Given the description of an element on the screen output the (x, y) to click on. 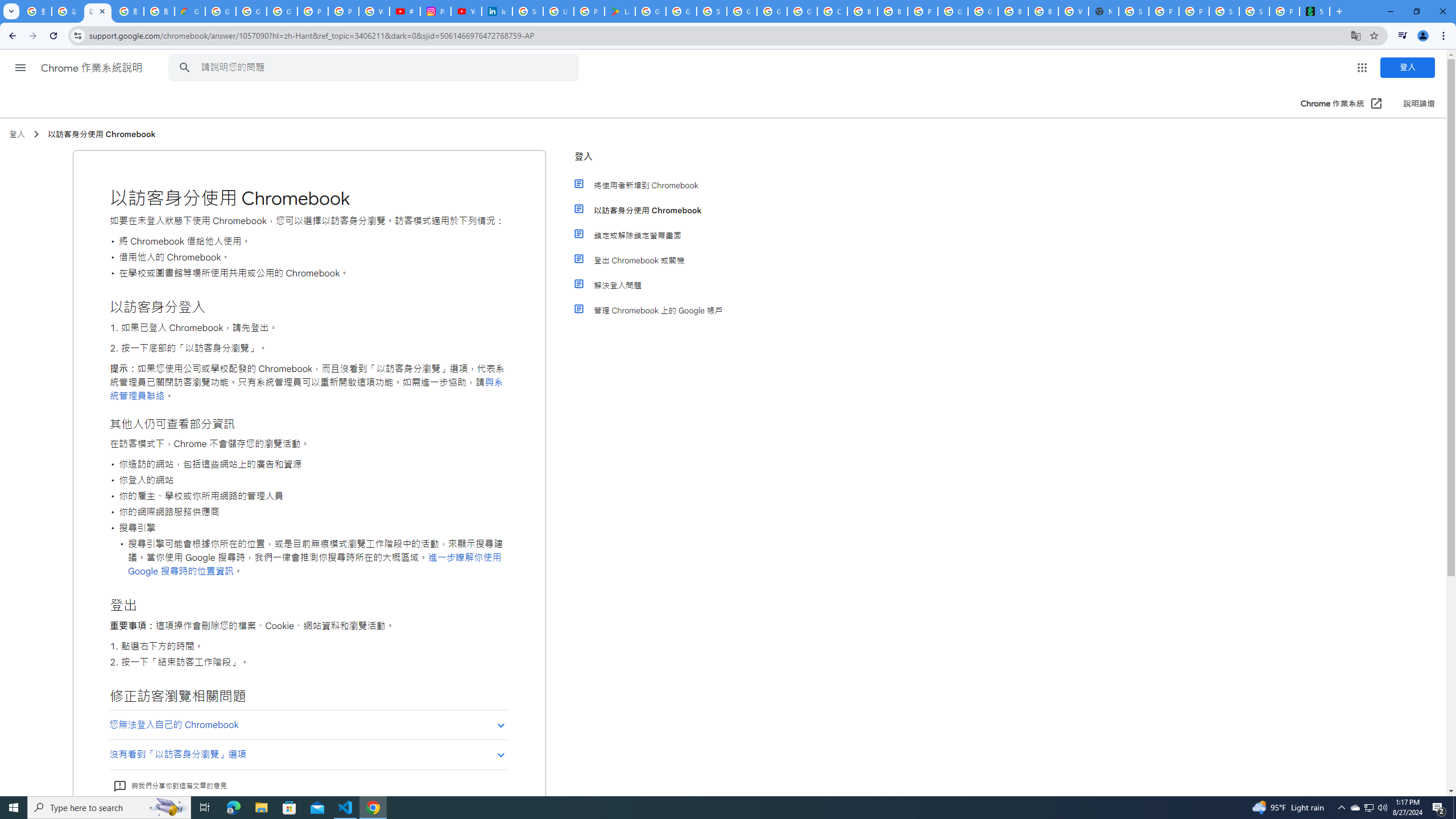
Last Shelter: Survival - Apps on Google Play (619, 11)
Google Cloud Platform (771, 11)
